Given the description of an element on the screen output the (x, y) to click on. 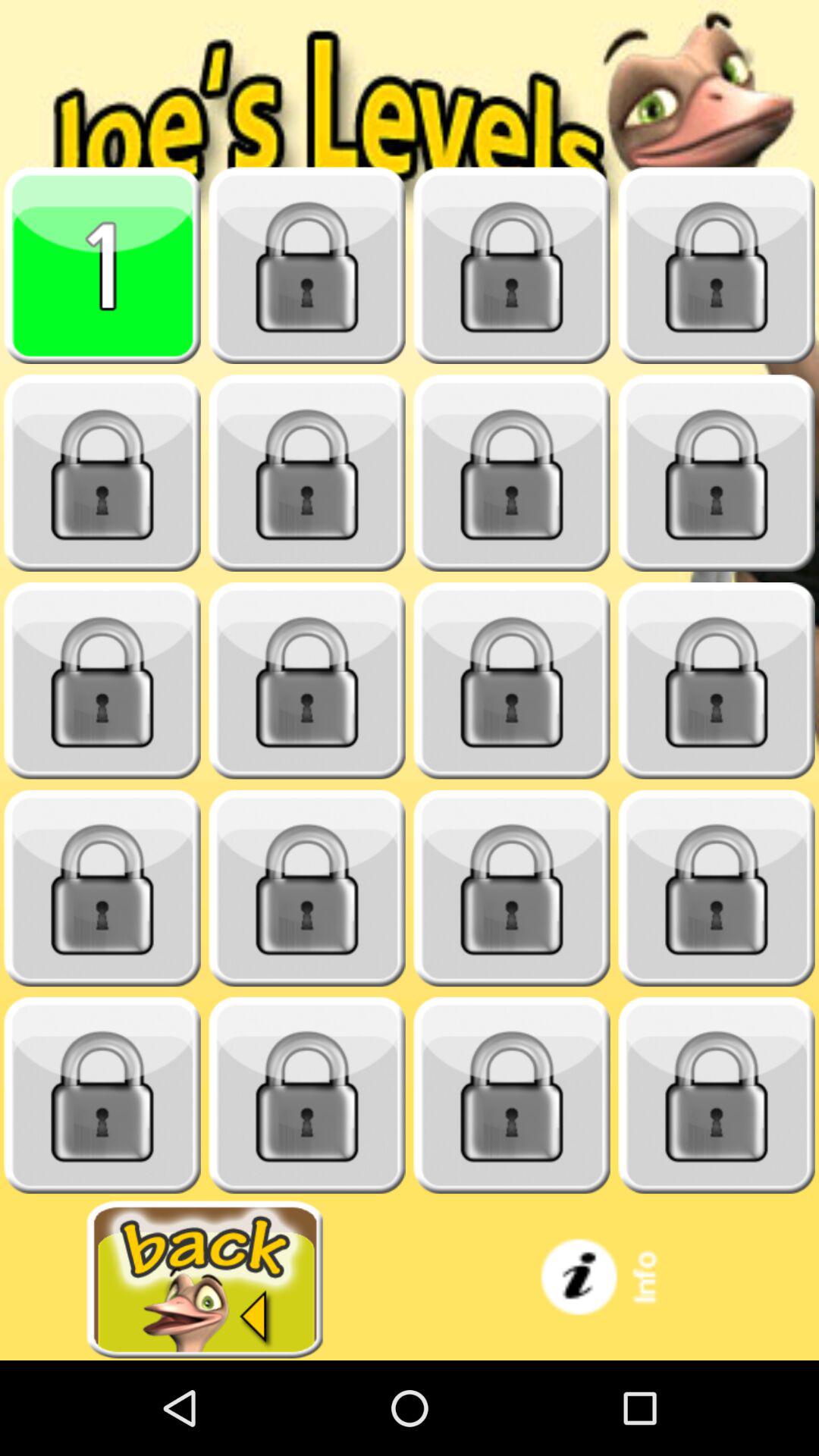
unlock level (306, 473)
